Given the description of an element on the screen output the (x, y) to click on. 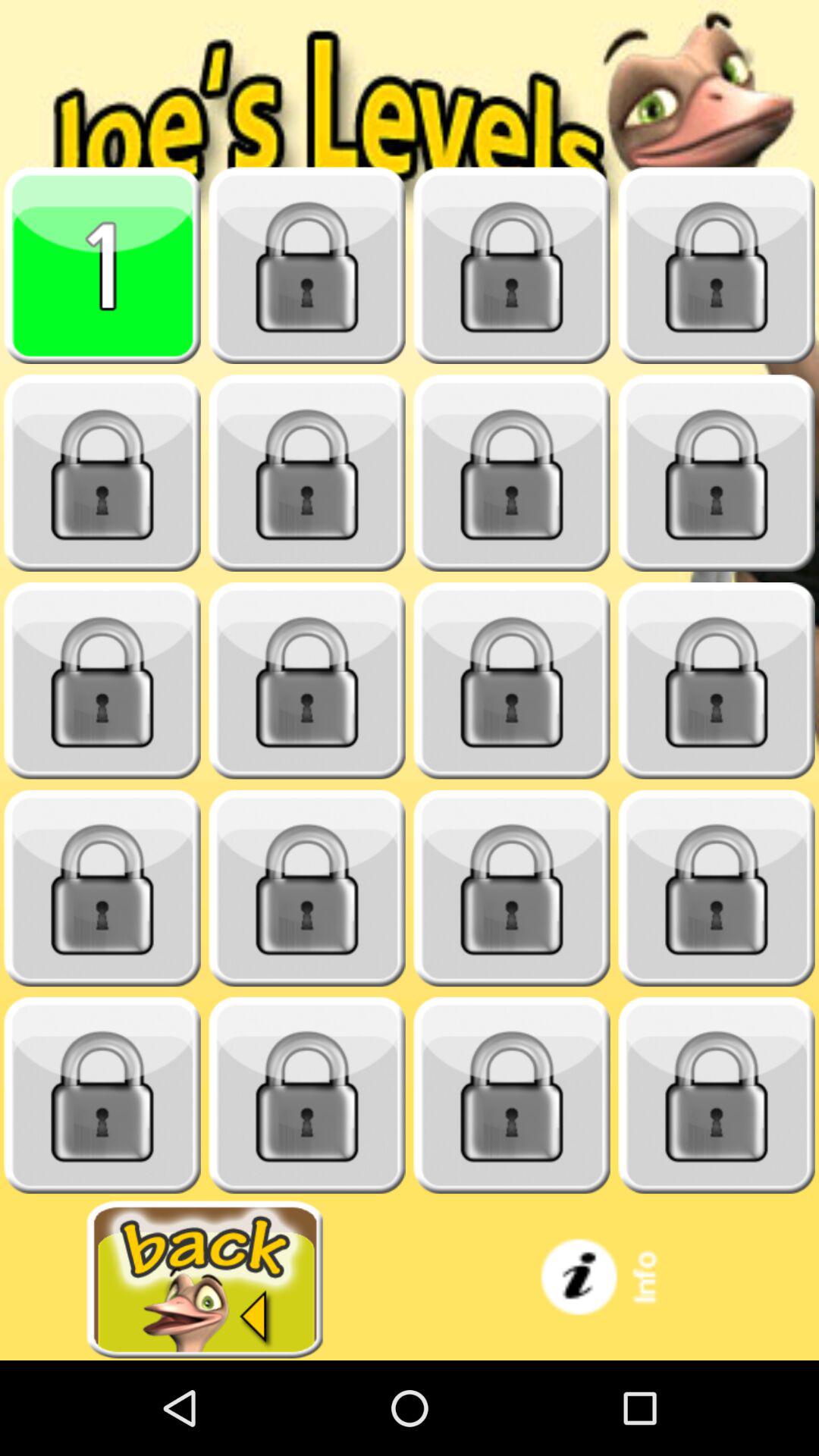
unlock level (306, 473)
